Given the description of an element on the screen output the (x, y) to click on. 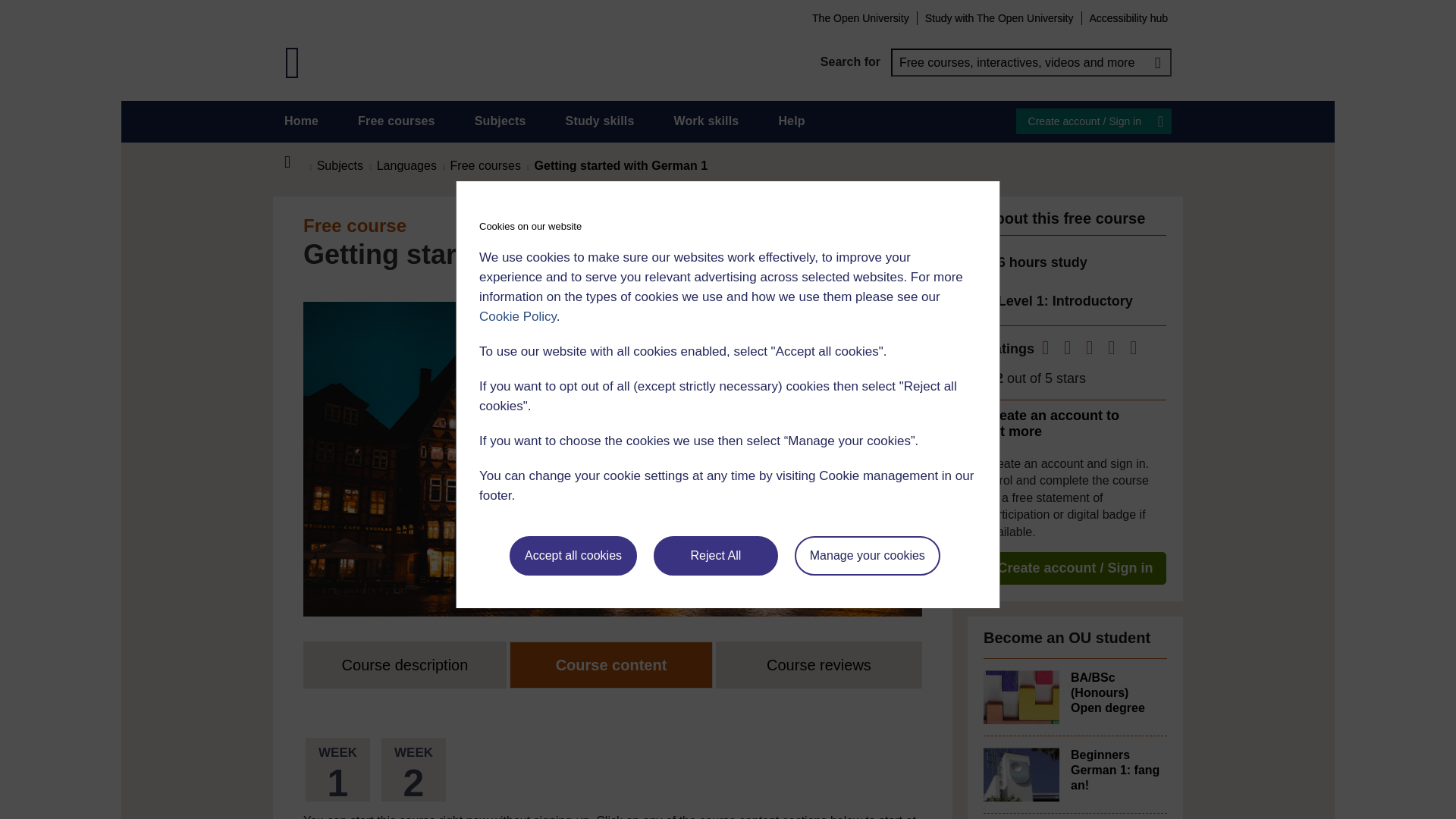
Free courses (396, 120)
Help (791, 120)
Home (300, 120)
Manage your cookies (867, 555)
Subjects (499, 120)
Cookie Policy (517, 316)
Accept all cookies (573, 555)
Reject All (715, 555)
Accessibility hub (1129, 17)
Study skills (600, 120)
The Open University (860, 17)
Work skills (705, 120)
Home (295, 162)
Search (1157, 62)
